Given the description of an element on the screen output the (x, y) to click on. 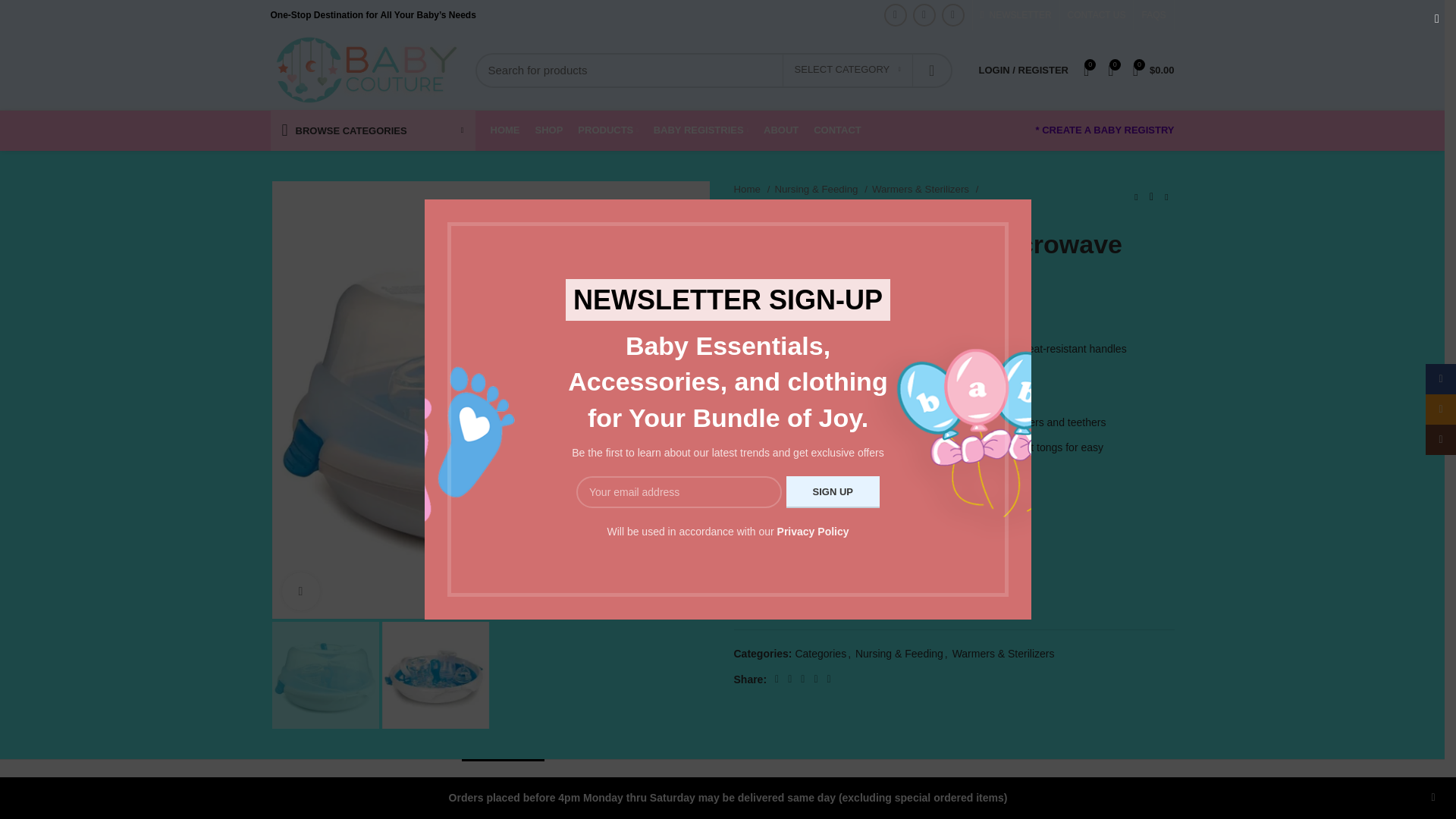
Search for products (713, 70)
Sign up (832, 491)
Sign up (832, 491)
CONTACT US (1096, 15)
SELECT CATEGORY (847, 70)
Privacy Policy (812, 531)
Shopping cart (1153, 69)
FAQS (1153, 15)
NEWSLETTER (1015, 15)
My account (1023, 69)
SELECT CATEGORY (847, 70)
